Given the description of an element on the screen output the (x, y) to click on. 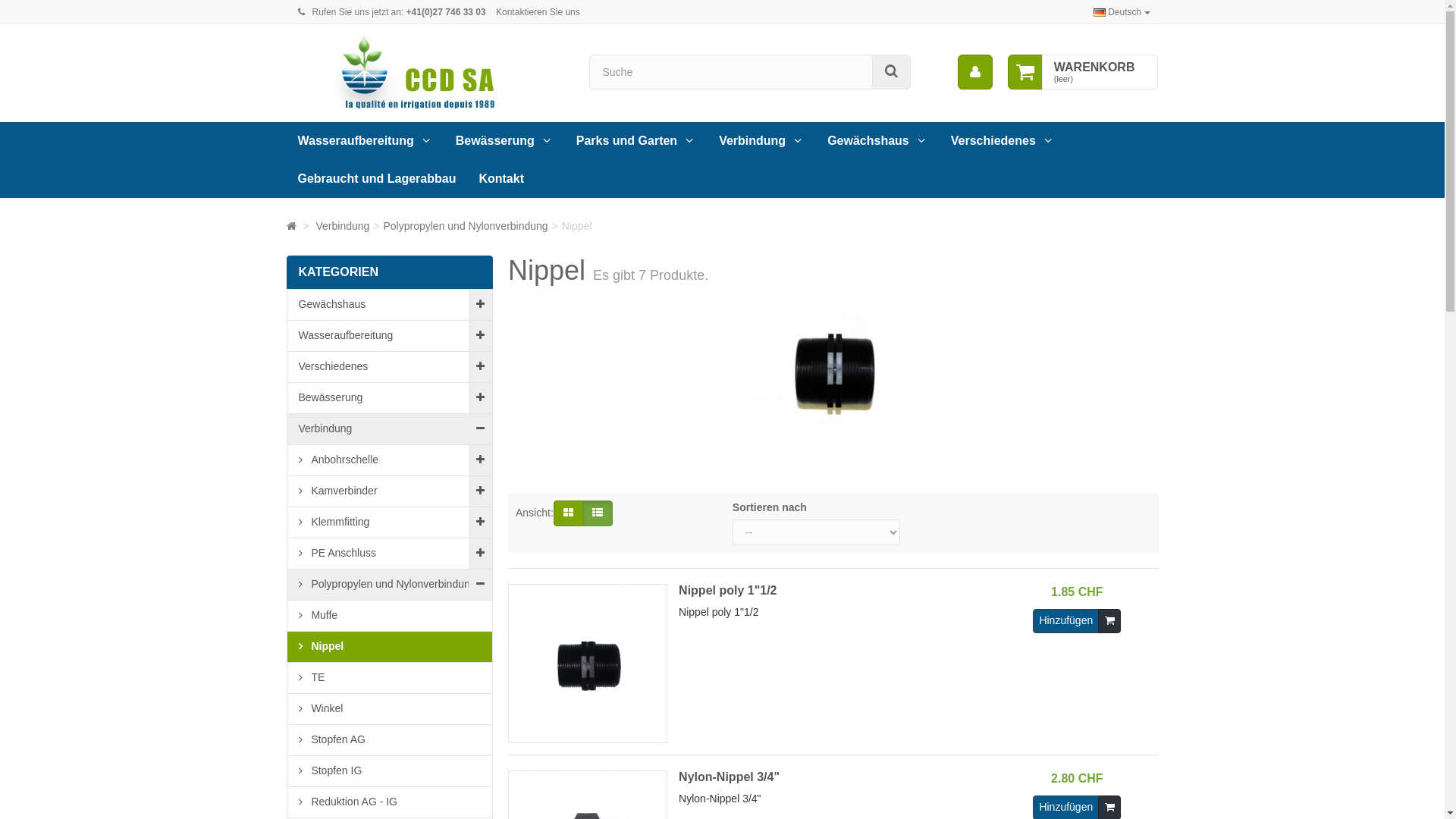
Nippel poly 1"1/2
Nippel poly 1"1/2 Element type: text (751, 663)
Stopfen AG Element type: text (389, 739)
Wasseraufbereitung Element type: text (365, 141)
Wasseraufbereitung Element type: text (389, 335)
Kontaktieren Sie uns Element type: text (537, 11)
Polypropylen und Nylonverbindung Element type: text (465, 225)
Kontakt Element type: text (501, 178)
Muffe Element type: text (389, 614)
Verschiedenes Element type: text (389, 366)
Polypropylen und Nylonverbindung Element type: text (389, 583)
Verbindung Element type: text (342, 225)
Verbindung Element type: text (389, 429)
Parks und Garten Element type: text (635, 141)
Gebraucht und Lagerabbau Element type: text (376, 178)
Anbohrschelle Element type: text (389, 459)
Reduktion AG - IG Element type: text (389, 801)
Verbindung Element type: text (761, 141)
Verschiedenes Element type: text (1002, 141)
Winkel Element type: text (389, 708)
Deutsch Element type: text (1121, 11)
CCD SA Element type: hover (426, 72)
Suche Element type: text (891, 71)
Kamverbinder Element type: text (389, 490)
Ansehen mein Warenkorb Element type: hover (1024, 71)
Stopfen IG Element type: text (389, 770)
Klemmfitting Element type: text (389, 521)
Mein Konto Element type: text (974, 71)
PE Anschluss Element type: text (389, 552)
TE Element type: text (389, 677)
Nippel Element type: text (389, 646)
Nippel poly 1\"1/2 Element type: hover (587, 663)
